Given the description of an element on the screen output the (x, y) to click on. 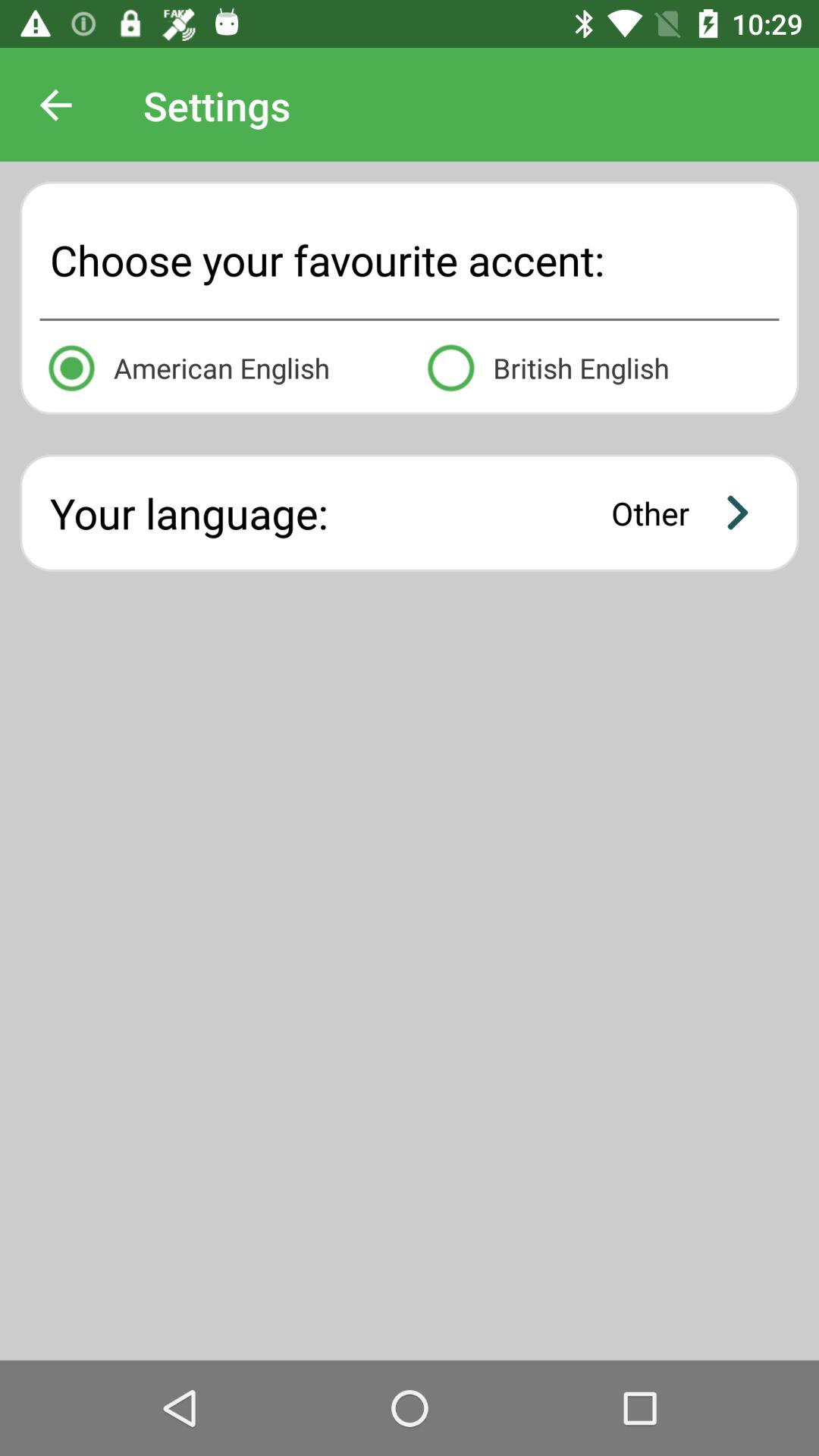
tap the icon next to the british english item (219, 365)
